Given the description of an element on the screen output the (x, y) to click on. 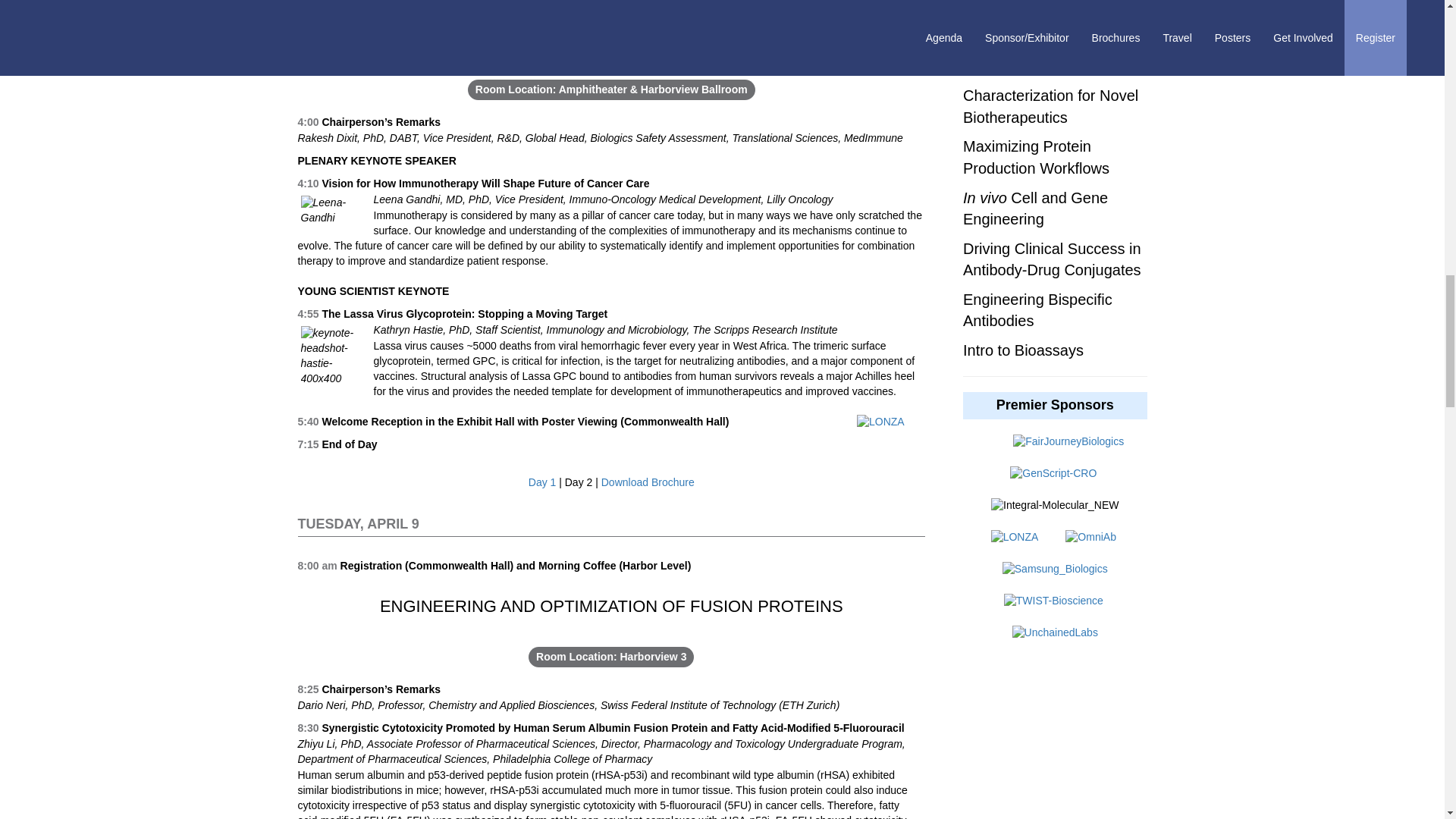
keynote-headshot-hastie-400x400 (331, 355)
Leena-Gandhi (331, 210)
Download Brochure (647, 481)
